Given the description of an element on the screen output the (x, y) to click on. 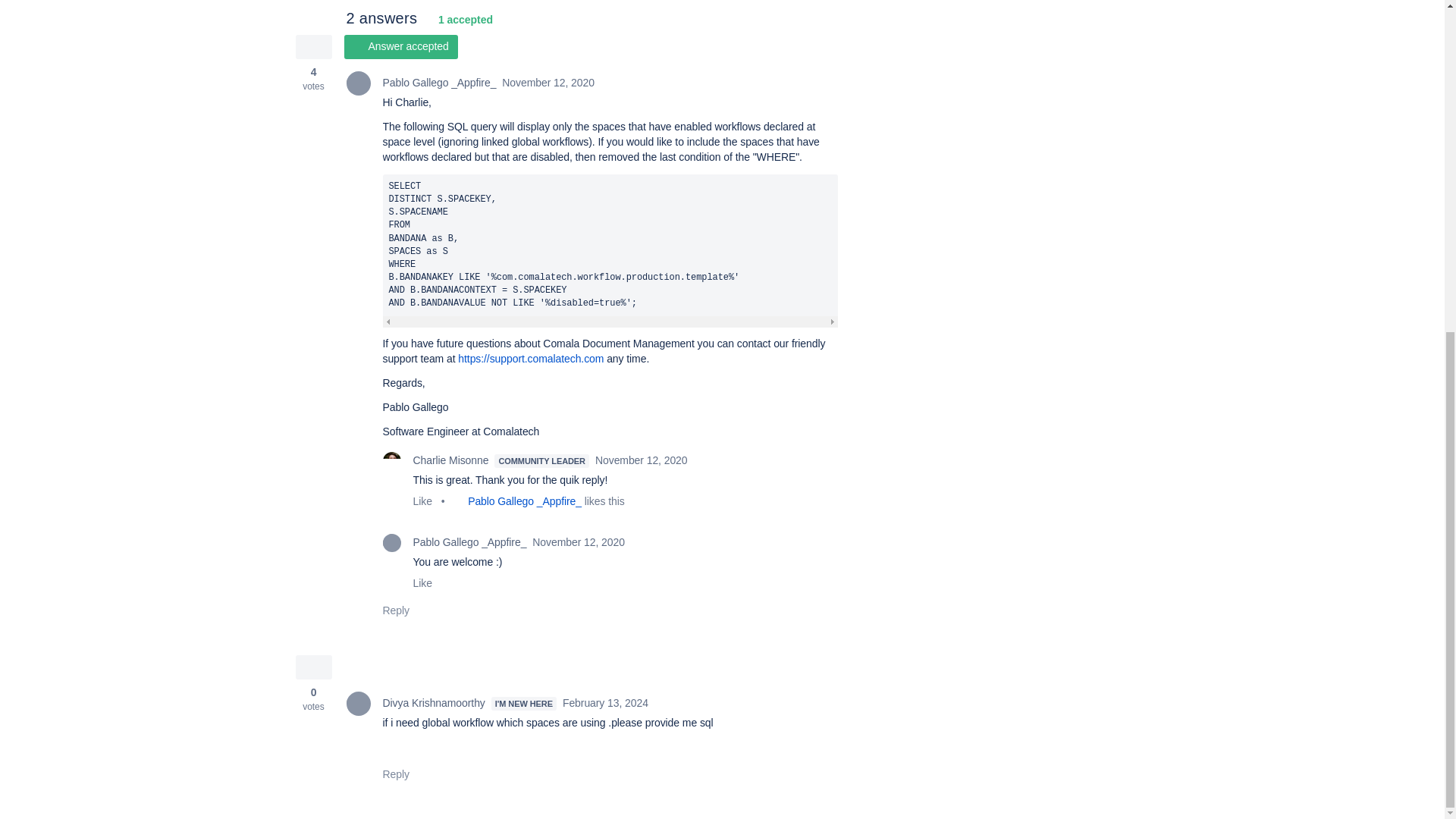
Charlie Misonne (390, 461)
Divya Krishnamoorthy (357, 703)
